Given the description of an element on the screen output the (x, y) to click on. 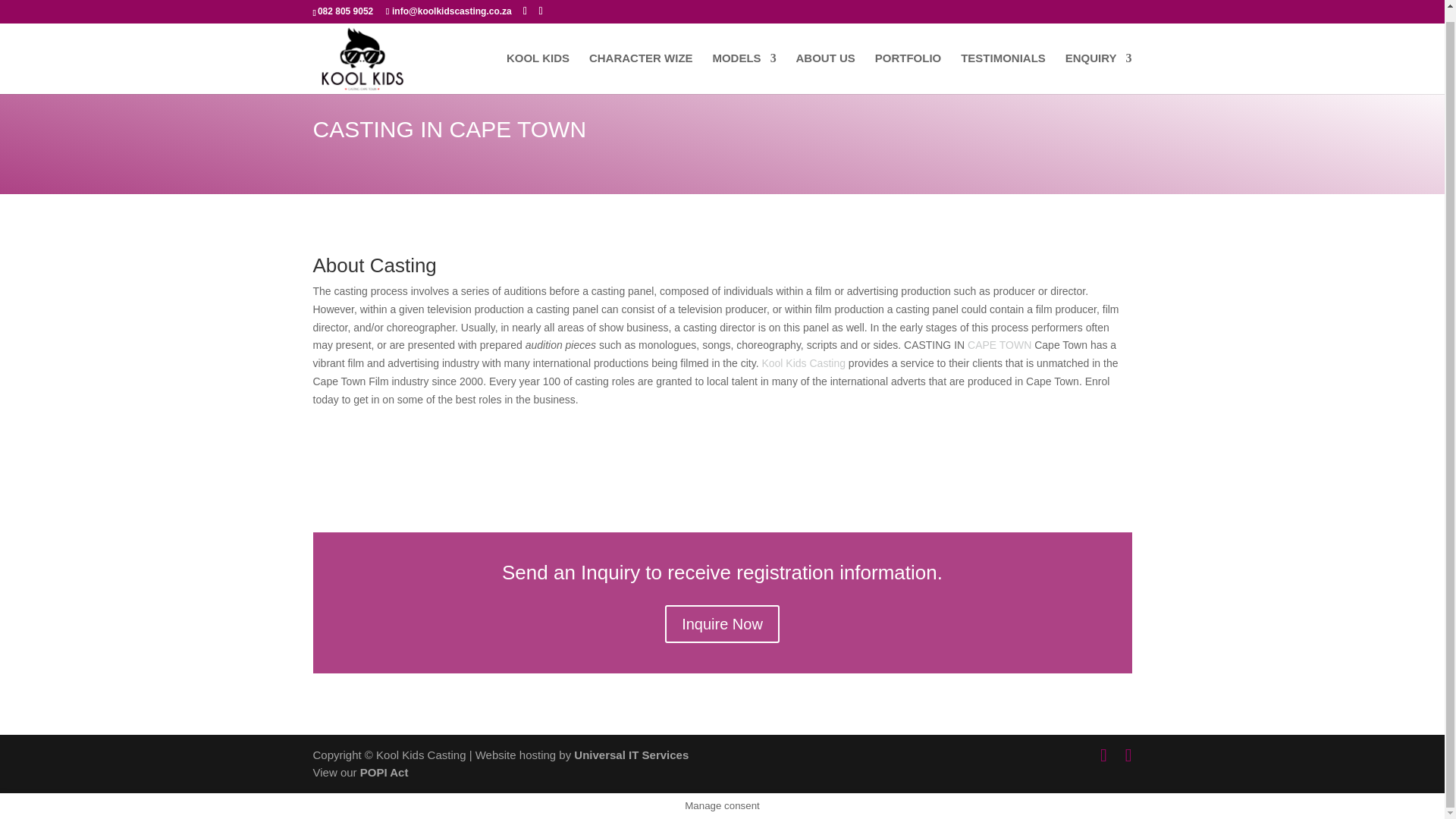
ABOUT US (826, 61)
Universal IT Services (630, 754)
KOOL KIDS (537, 61)
POPI Act (384, 771)
MODELS (743, 61)
CHARACTER WIZE (641, 61)
PORTFOLIO (908, 61)
Casting (826, 363)
CAPE TOWN (999, 345)
Kool Kids (783, 363)
